Given the description of an element on the screen output the (x, y) to click on. 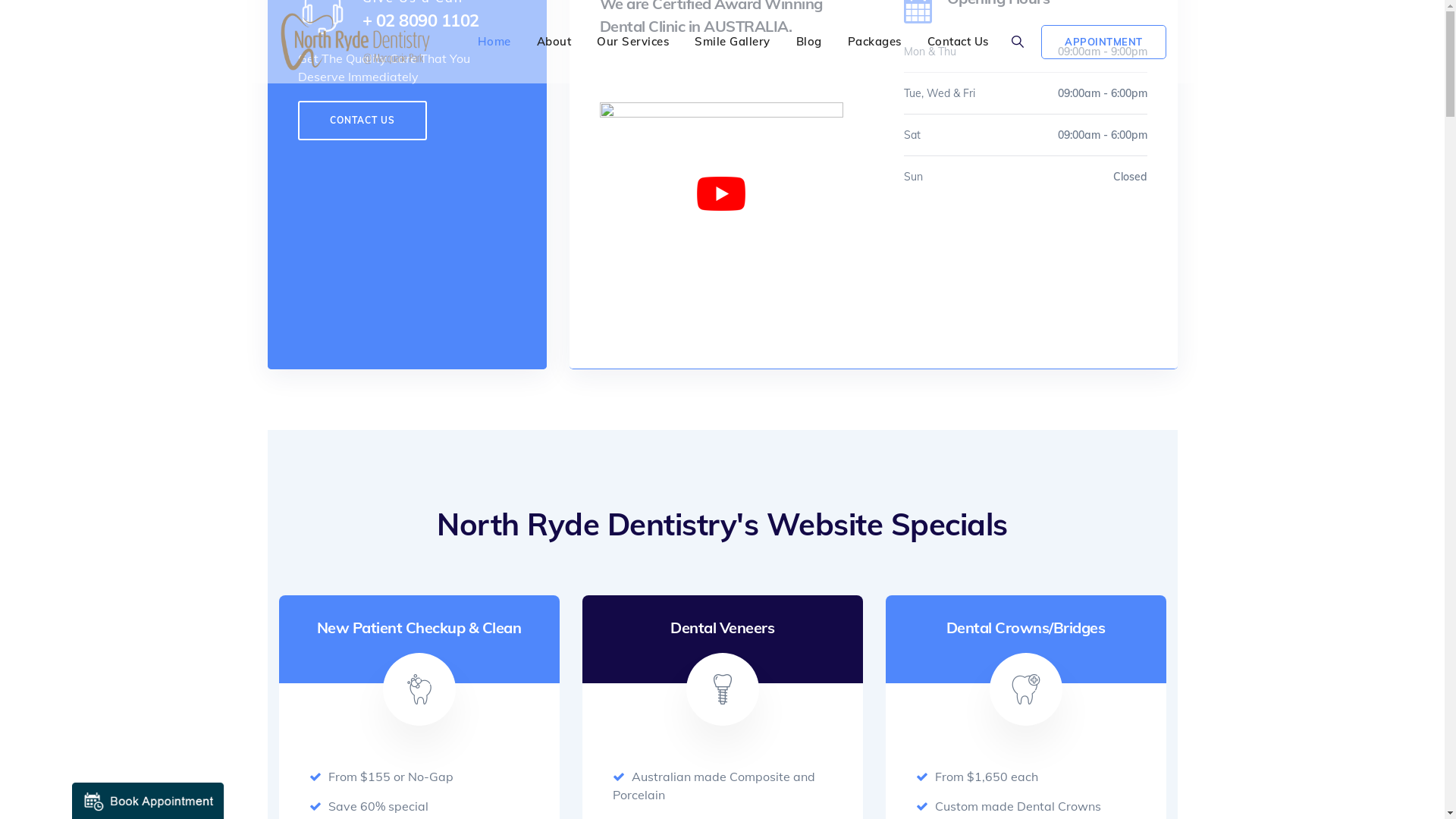
Home Element type: text (494, 41)
Smile Gallery Element type: text (732, 41)
Packages Element type: text (874, 41)
Our Services Element type: text (632, 41)
About Element type: text (553, 41)
CONTACT US Element type: text (361, 120)
APPOINTMENT Element type: text (1103, 42)
Dentists in North Ryde | North Ryde Dentistry Element type: hover (355, 41)
Blog Element type: text (809, 41)
Contact Us Element type: text (957, 41)
